Given the description of an element on the screen output the (x, y) to click on. 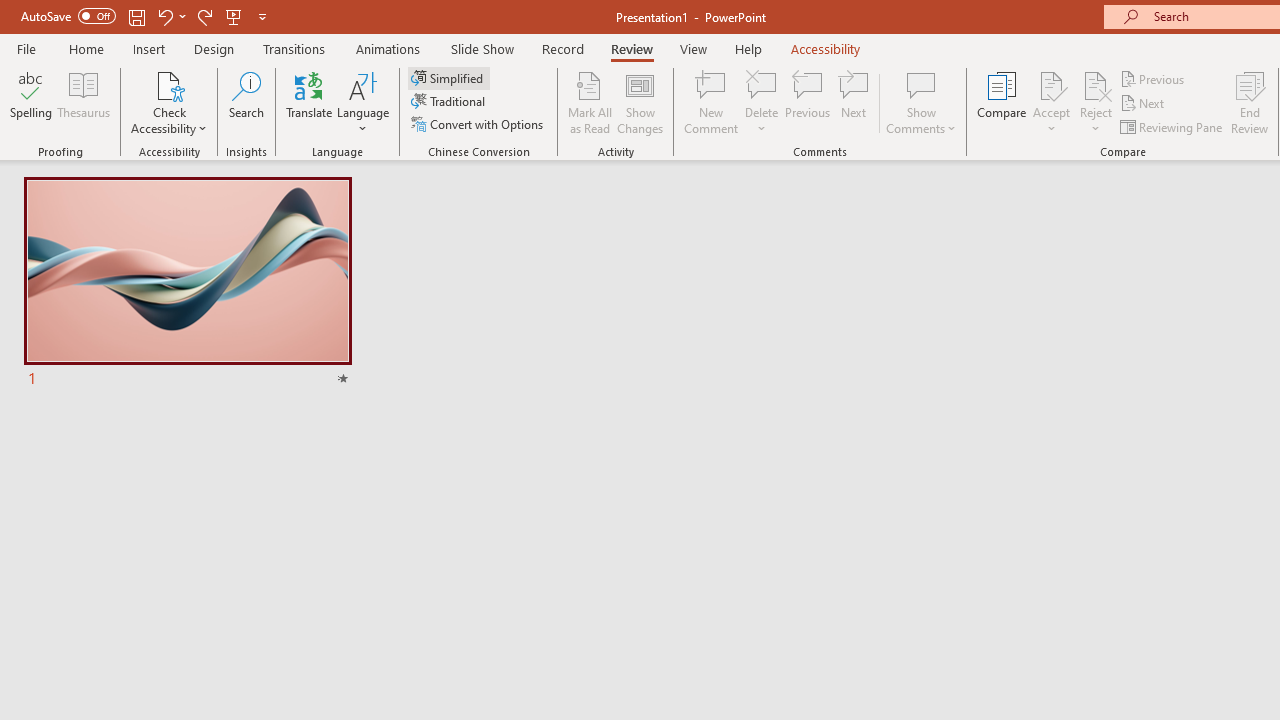
Delete (762, 102)
Mark All as Read (589, 102)
Record (562, 48)
Home (86, 48)
Reviewing Pane (1172, 126)
Check Accessibility (169, 84)
Review (631, 48)
Compare (1002, 102)
Search (246, 102)
View (693, 48)
More Options (1096, 121)
From Beginning (234, 15)
Reject (1096, 102)
Accept (1051, 102)
Language (363, 102)
